Given the description of an element on the screen output the (x, y) to click on. 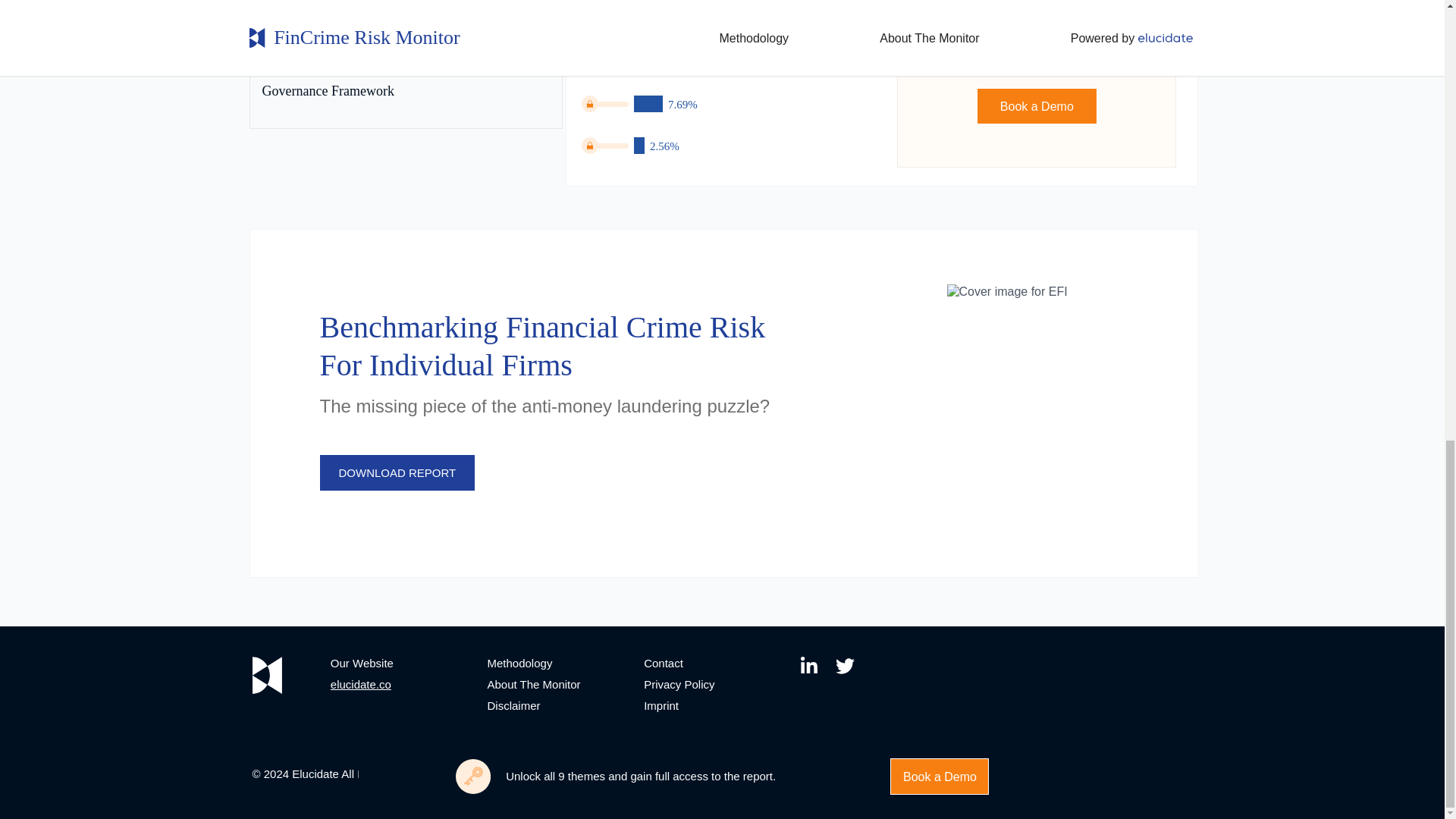
Contact (662, 662)
Our Website (361, 662)
Disclaimer (513, 705)
DOWNLOAD REPORT (398, 472)
Book a Demo (1036, 105)
About The Monitor (532, 684)
Methodology (518, 662)
Imprint (660, 705)
Privacy Policy (678, 684)
Elucidate on Tweeter (852, 666)
elucidate.co (360, 684)
Elucidate on LinkedIn (816, 666)
